Given the description of an element on the screen output the (x, y) to click on. 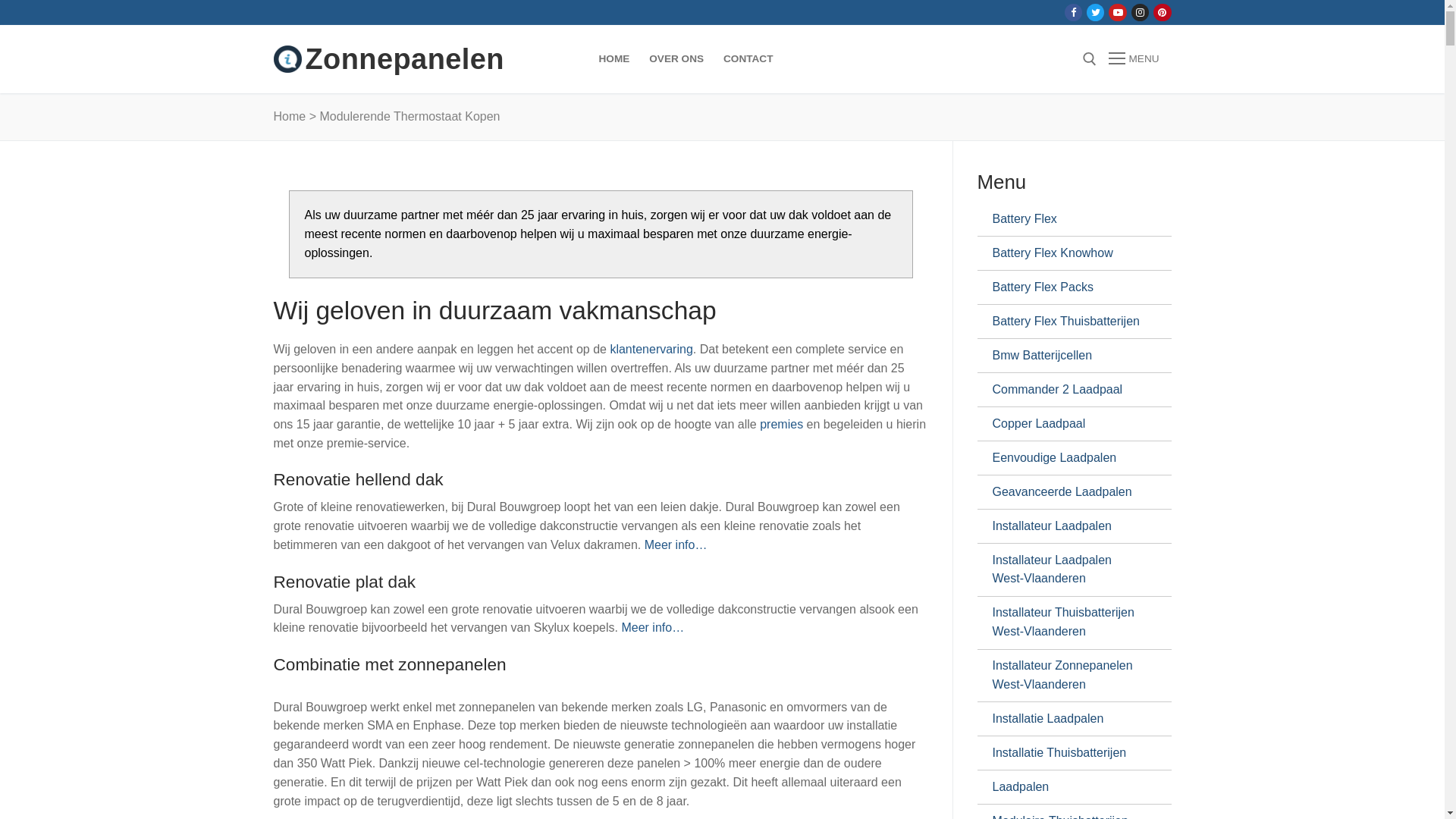
Battery Flex Knowhow Element type: text (1067, 252)
Twitter Element type: hover (1095, 12)
Youtube Element type: hover (1118, 12)
Instagram Element type: hover (1140, 12)
Facebook Element type: hover (1073, 12)
Geavanceerde Laadpalen Element type: text (1067, 491)
Zonnepanelen Element type: text (403, 58)
Installatie Laadpalen Element type: text (1067, 718)
Laadpalen Element type: text (1067, 786)
Battery Flex Thuisbatterijen Element type: text (1067, 321)
Installateur Laadpalen West-Vlaanderen Element type: text (1067, 569)
HOME Element type: text (613, 58)
klantenervaring Element type: text (650, 348)
CONTACT Element type: text (747, 58)
premies Element type: text (781, 423)
Bmw Batterijcellen Element type: text (1067, 355)
OVER ONS Element type: text (676, 58)
MENU Element type: text (1133, 59)
Installateur Thuisbatterijen West-Vlaanderen Element type: text (1067, 622)
Installateur Laadpalen Element type: text (1067, 525)
Battery Flex Packs Element type: text (1067, 287)
Copper Laadpaal Element type: text (1067, 423)
Doorgaan naar inhoud Element type: text (0, 0)
Commander 2 Laadpaal Element type: text (1067, 389)
Pinterest Element type: hover (1162, 12)
Eenvoudige Laadpalen Element type: text (1067, 457)
Battery Flex Element type: text (1067, 218)
Installateur Zonnepanelen West-Vlaanderen Element type: text (1067, 675)
Installatie Thuisbatterijen Element type: text (1067, 752)
